Given the description of an element on the screen output the (x, y) to click on. 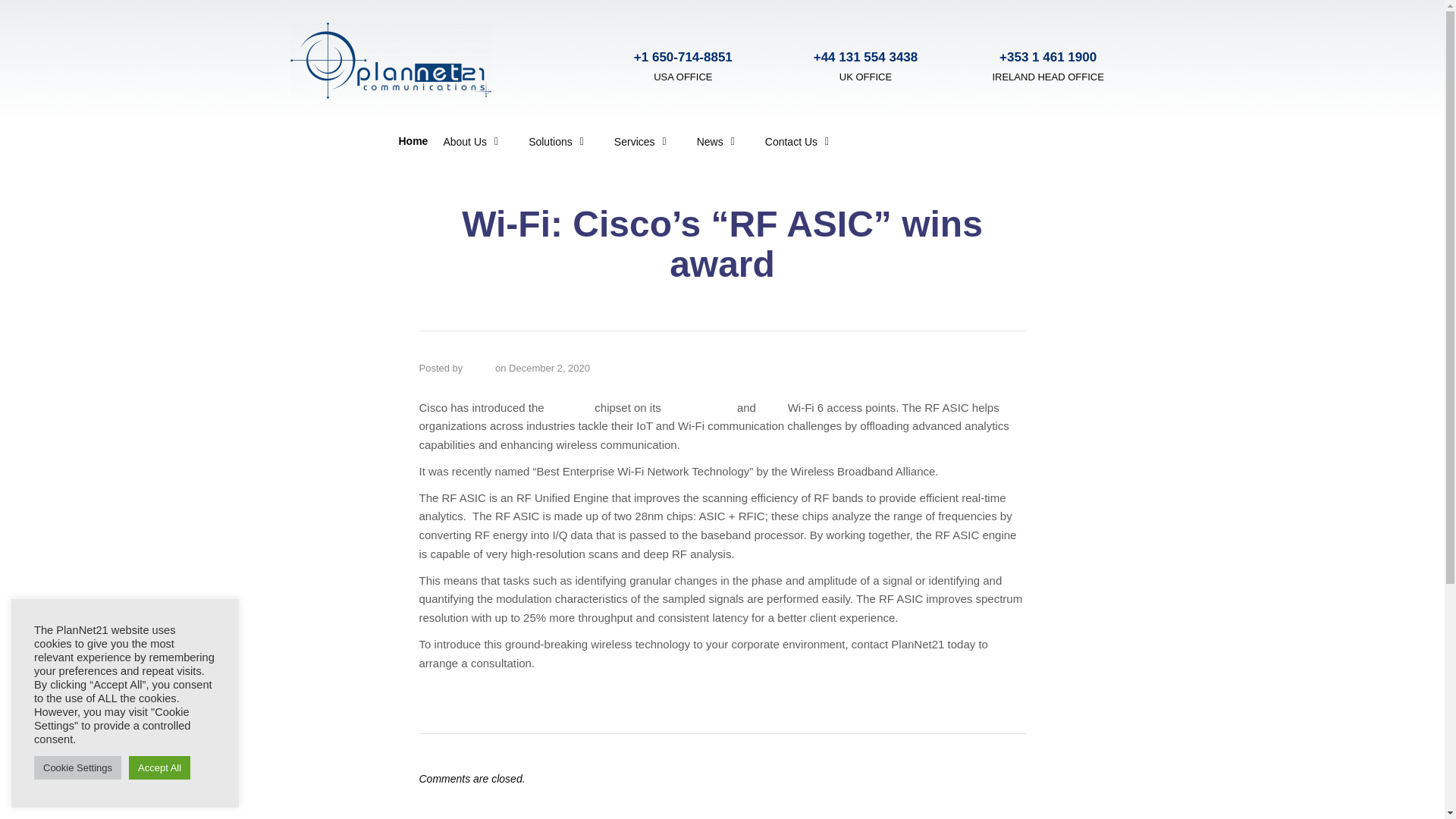
Services (639, 140)
Solutions (555, 140)
Posts by admin (478, 367)
About Us (470, 140)
News (715, 140)
Contact Us (796, 140)
